Given the description of an element on the screen output the (x, y) to click on. 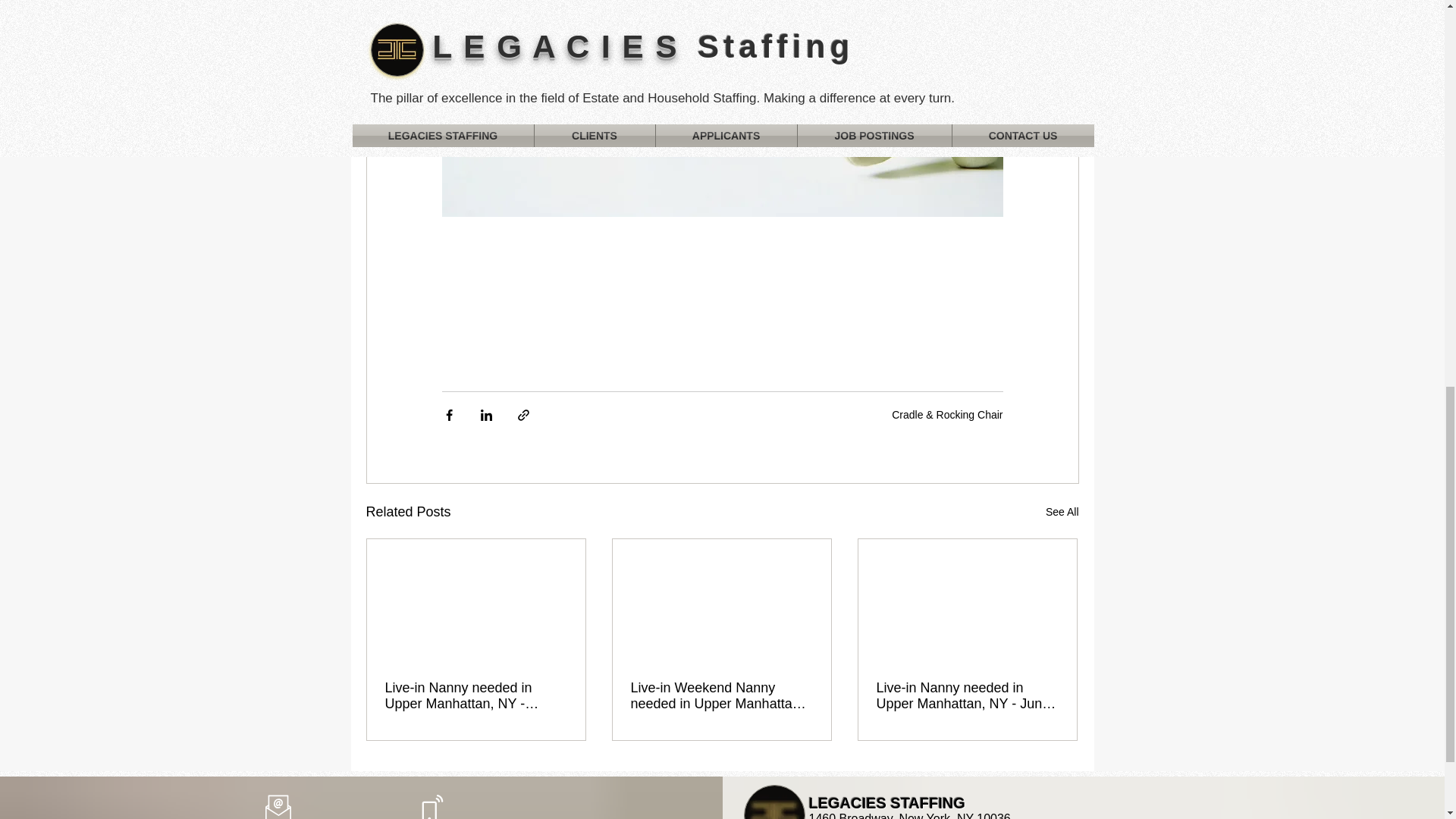
See All (1061, 512)
